Given the description of an element on the screen output the (x, y) to click on. 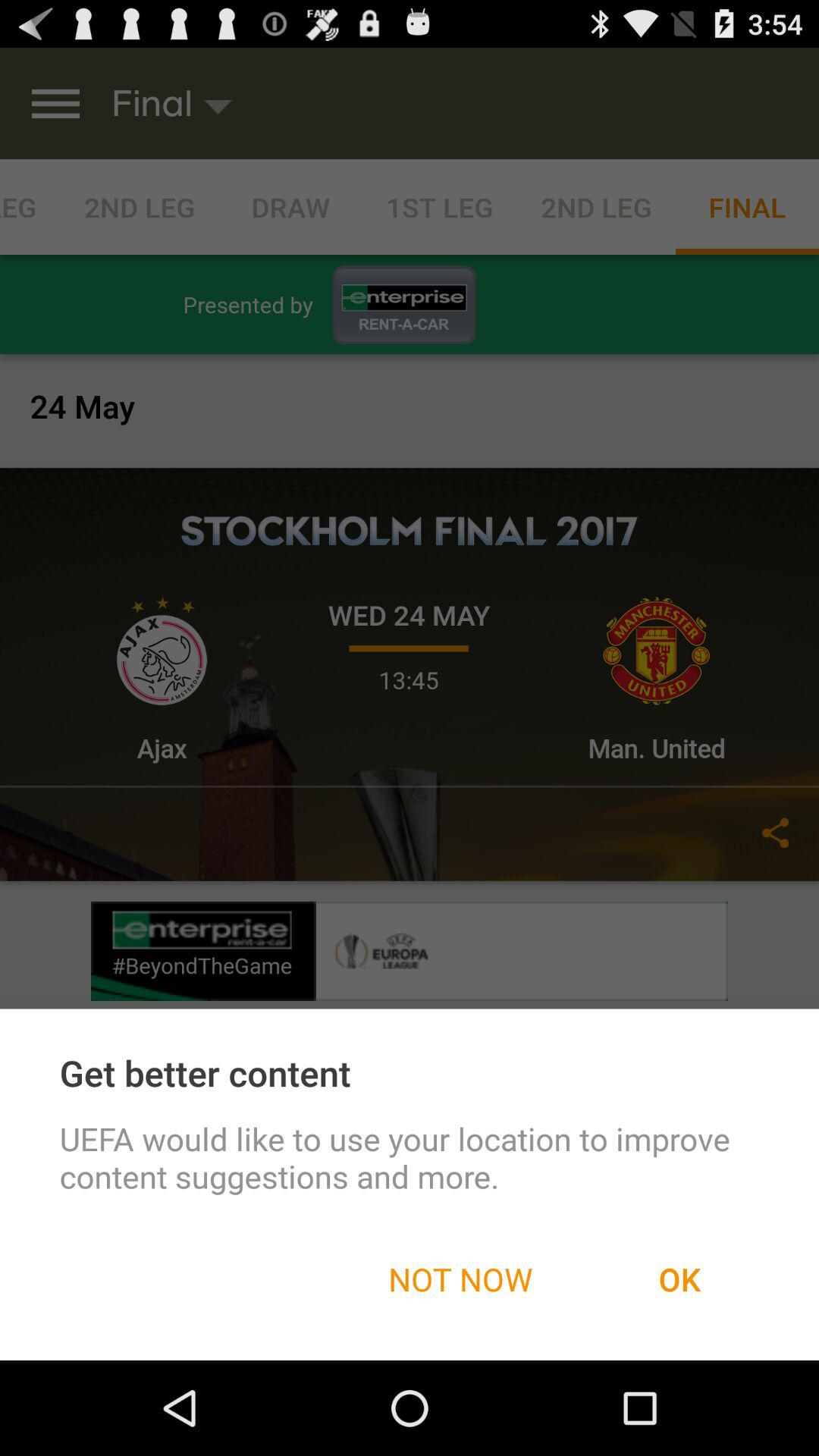
open the ok at the bottom right corner (679, 1278)
